Given the description of an element on the screen output the (x, y) to click on. 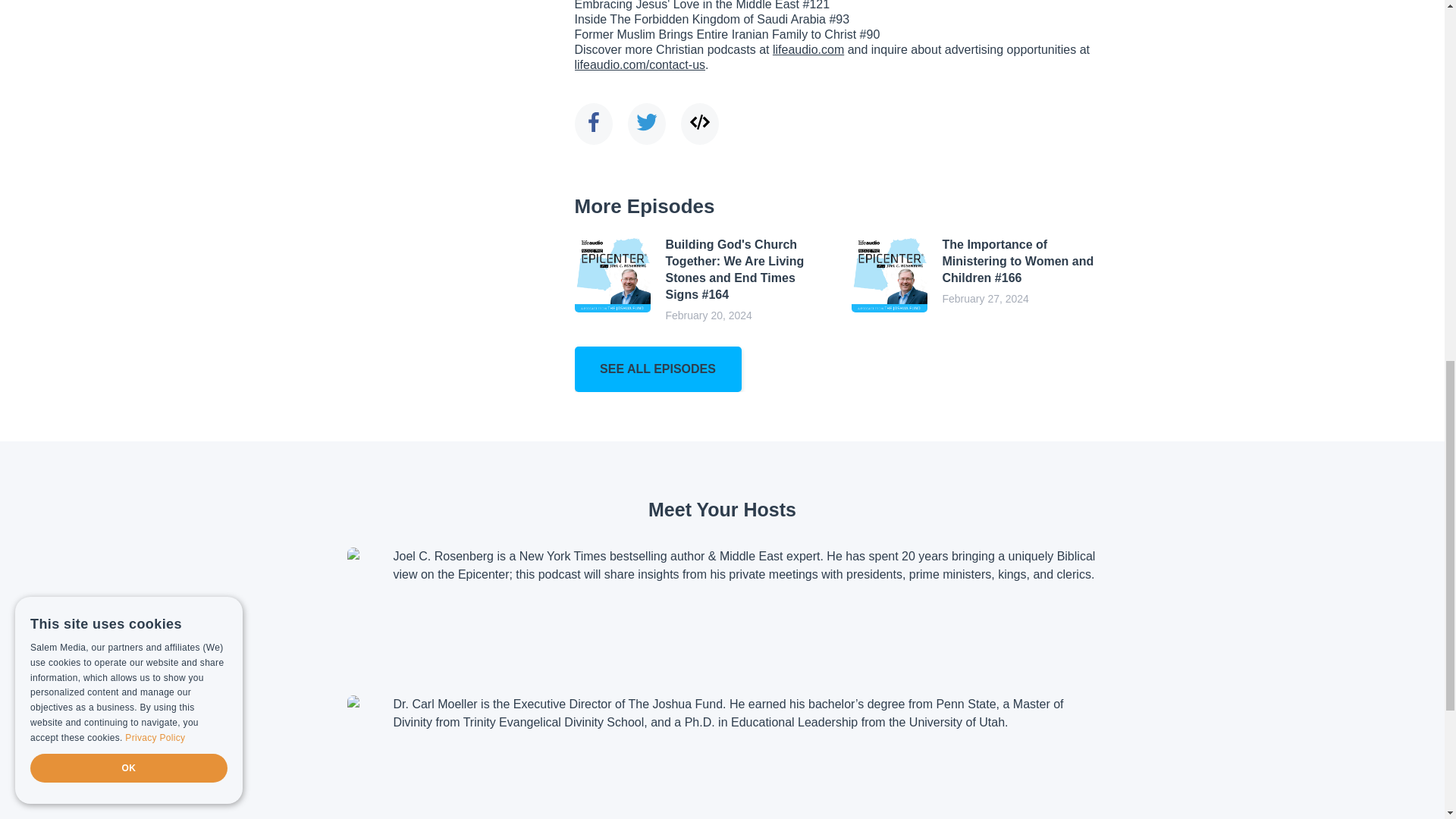
SEE ALL EPISODES (658, 369)
lifeaudio.com (808, 49)
